Given the description of an element on the screen output the (x, y) to click on. 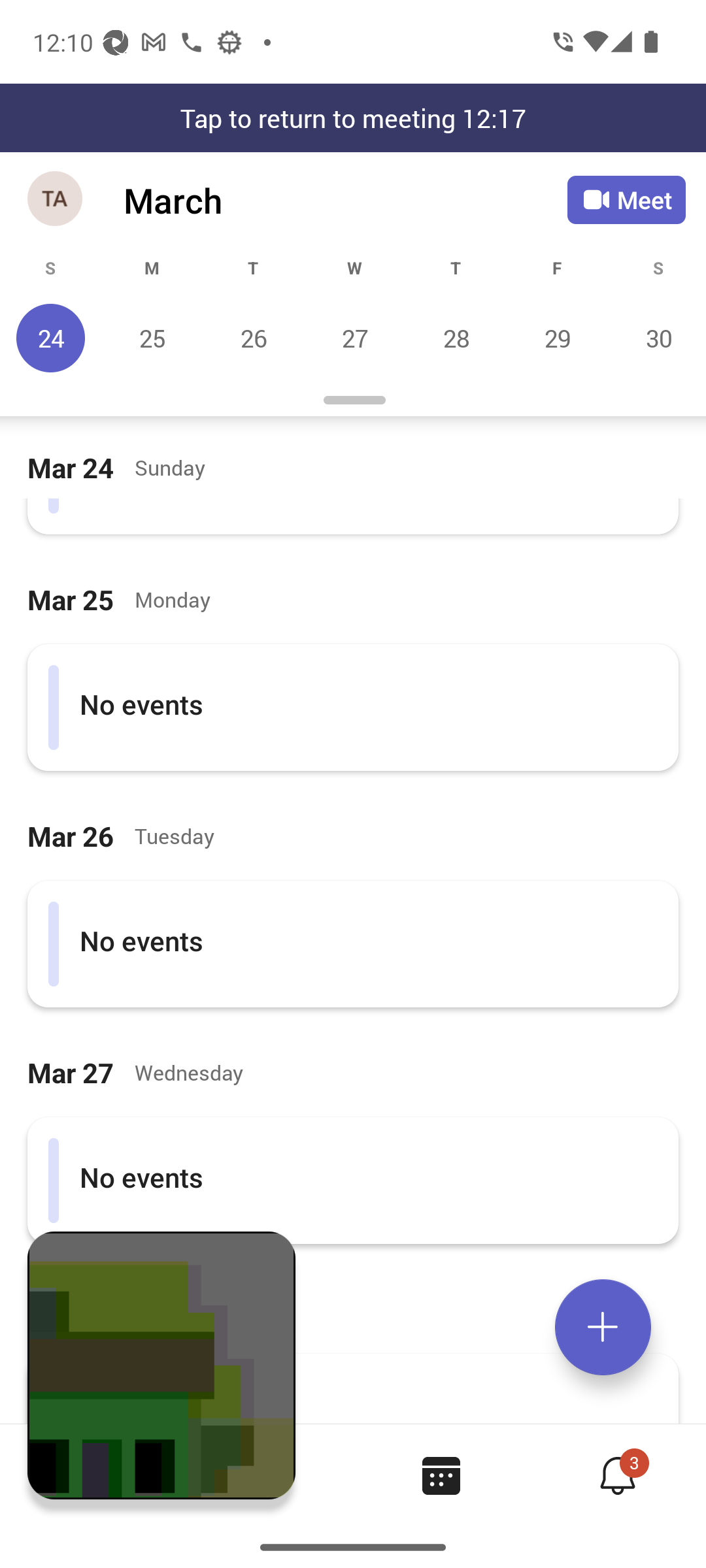
Tap to return to meeting 12:17 (353, 117)
Navigation (56, 199)
Meet Meet now or join with an ID (626, 199)
March March Calendar Agenda View (345, 199)
Sunday, March 24, Selected 24 (50, 337)
Monday, March 25 25 (151, 337)
Tuesday, March 26 26 (253, 337)
Wednesday, March 27 27 (354, 337)
Thursday, March 28 28 (455, 337)
Friday, March 29 29 (556, 337)
Saturday, March 30 30 (656, 337)
Expand meetings menu (602, 1327)
Calendar tab, 3 of 4 (441, 1475)
Activity tab,4 of 4, not selected, 3 new 3 (617, 1475)
